Given the description of an element on the screen output the (x, y) to click on. 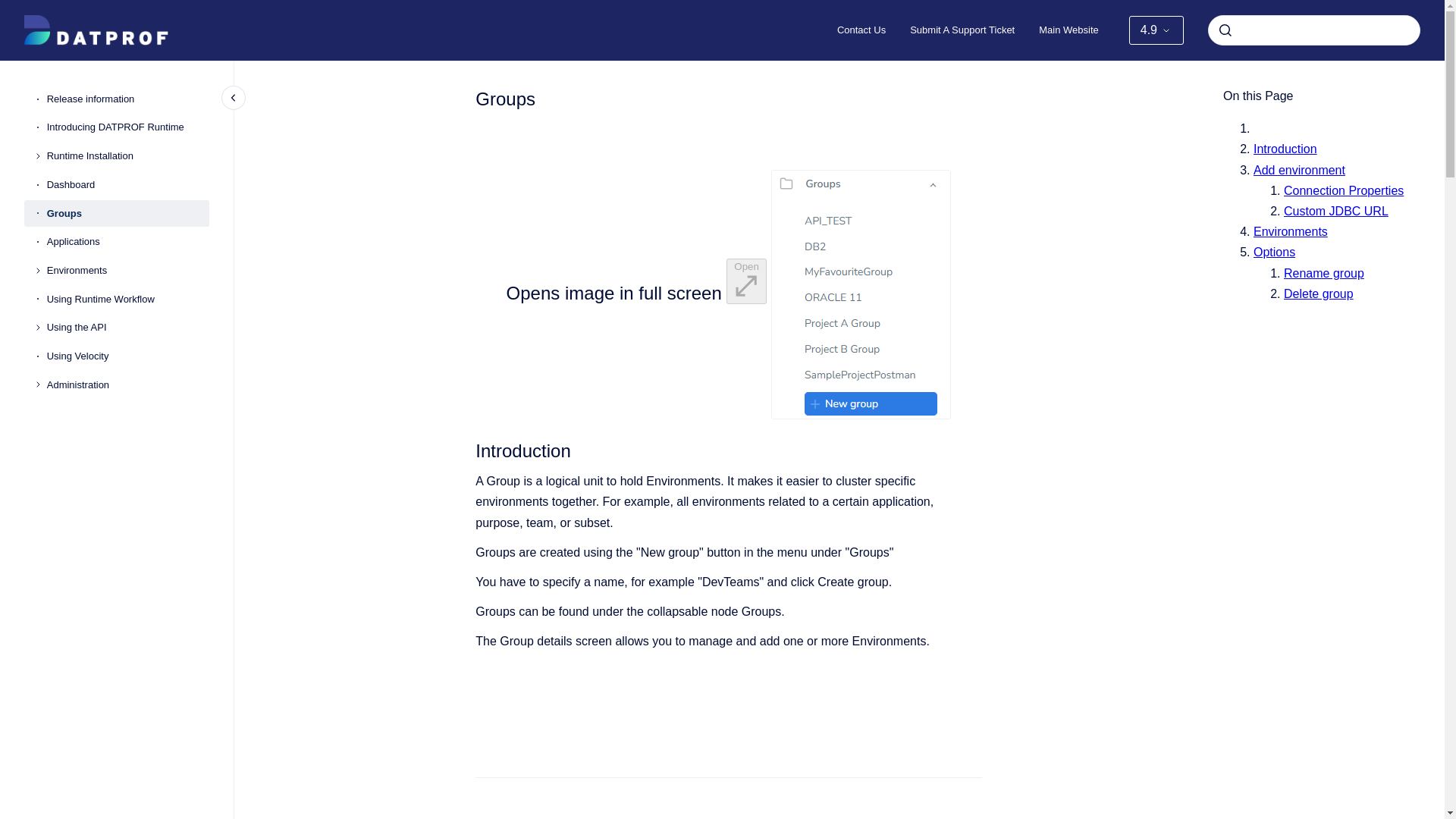
Using Velocity (127, 356)
Runtime Installation (127, 155)
Administration (127, 384)
Submit A Support Ticket (962, 29)
Using Runtime Workflow (127, 298)
Main Website (1068, 29)
Go to homepage (96, 30)
Applications (127, 241)
Release information (127, 99)
Groups (127, 213)
Contact Us (861, 29)
4.9 (1156, 30)
Copy to clipboard (468, 816)
Dashboard (127, 185)
